Given the description of an element on the screen output the (x, y) to click on. 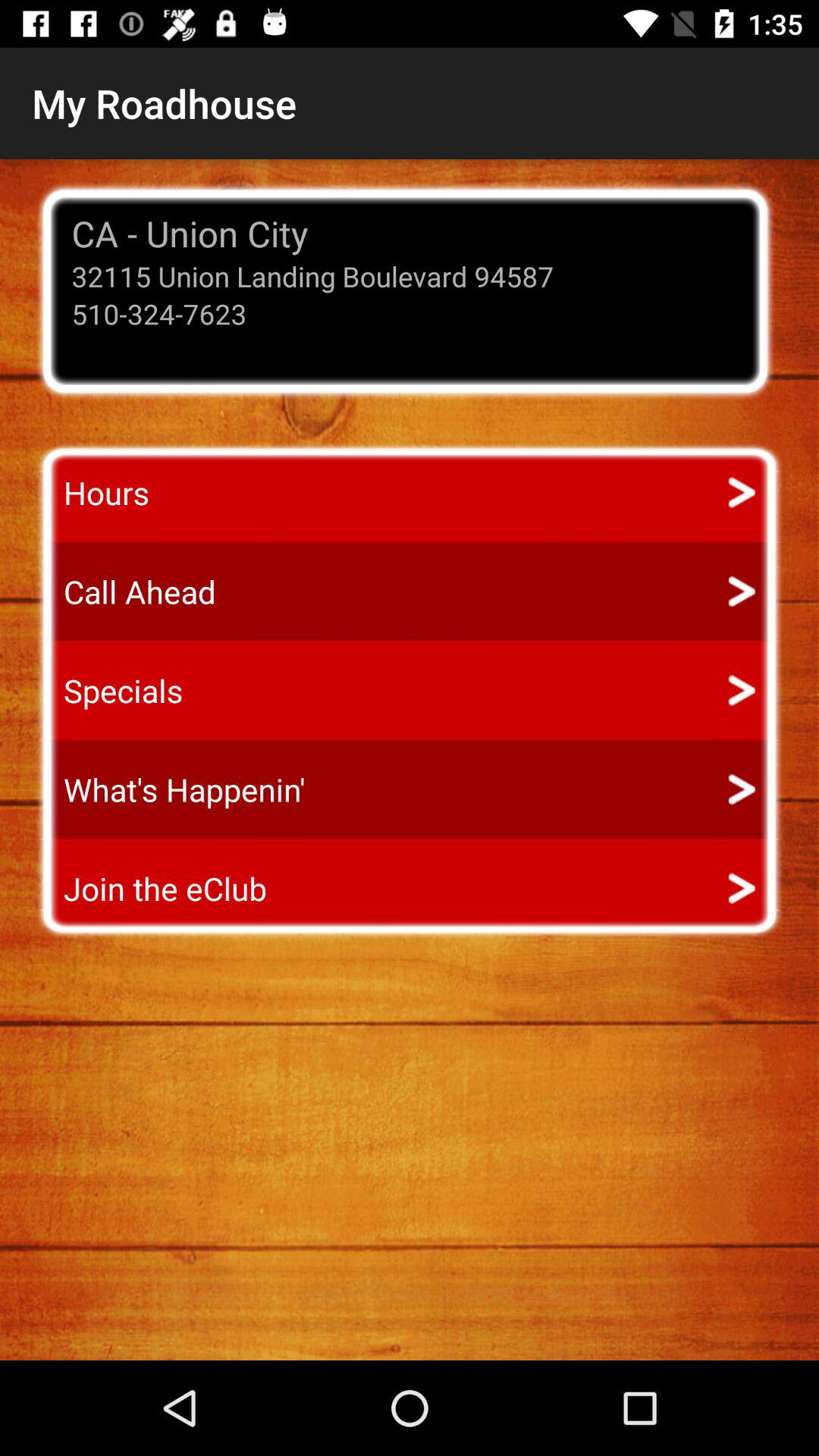
choose the call ahead item (125, 591)
